Given the description of an element on the screen output the (x, y) to click on. 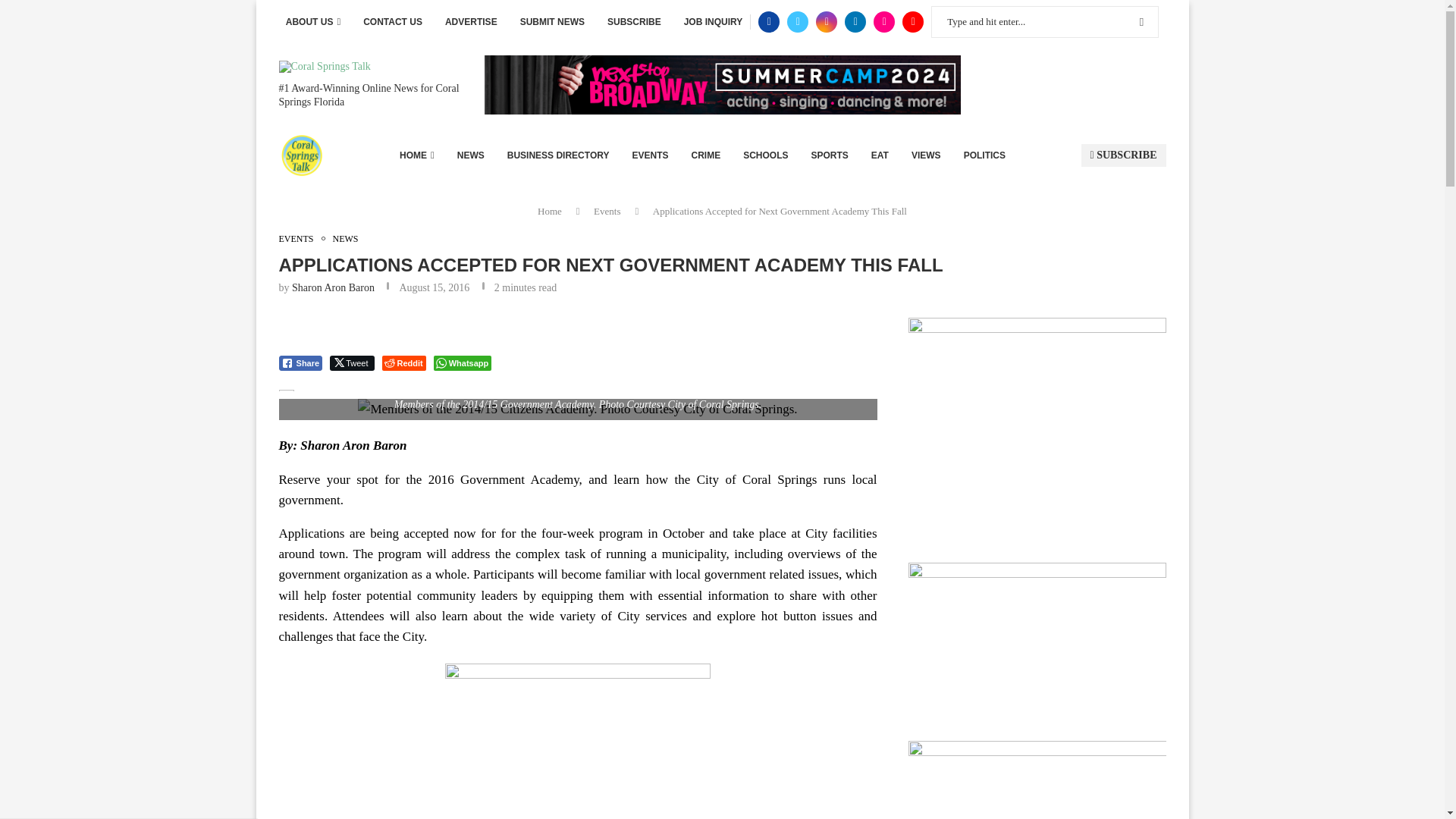
CONTACT US (392, 22)
NEWS (470, 155)
HOME (415, 155)
JOB INQUIRY (713, 22)
ABOUT US (312, 22)
ADVERTISE (471, 22)
BUSINESS DIRECTORY (558, 155)
SUBMIT NEWS (552, 22)
SUBSCRIBE (634, 22)
